Given the description of an element on the screen output the (x, y) to click on. 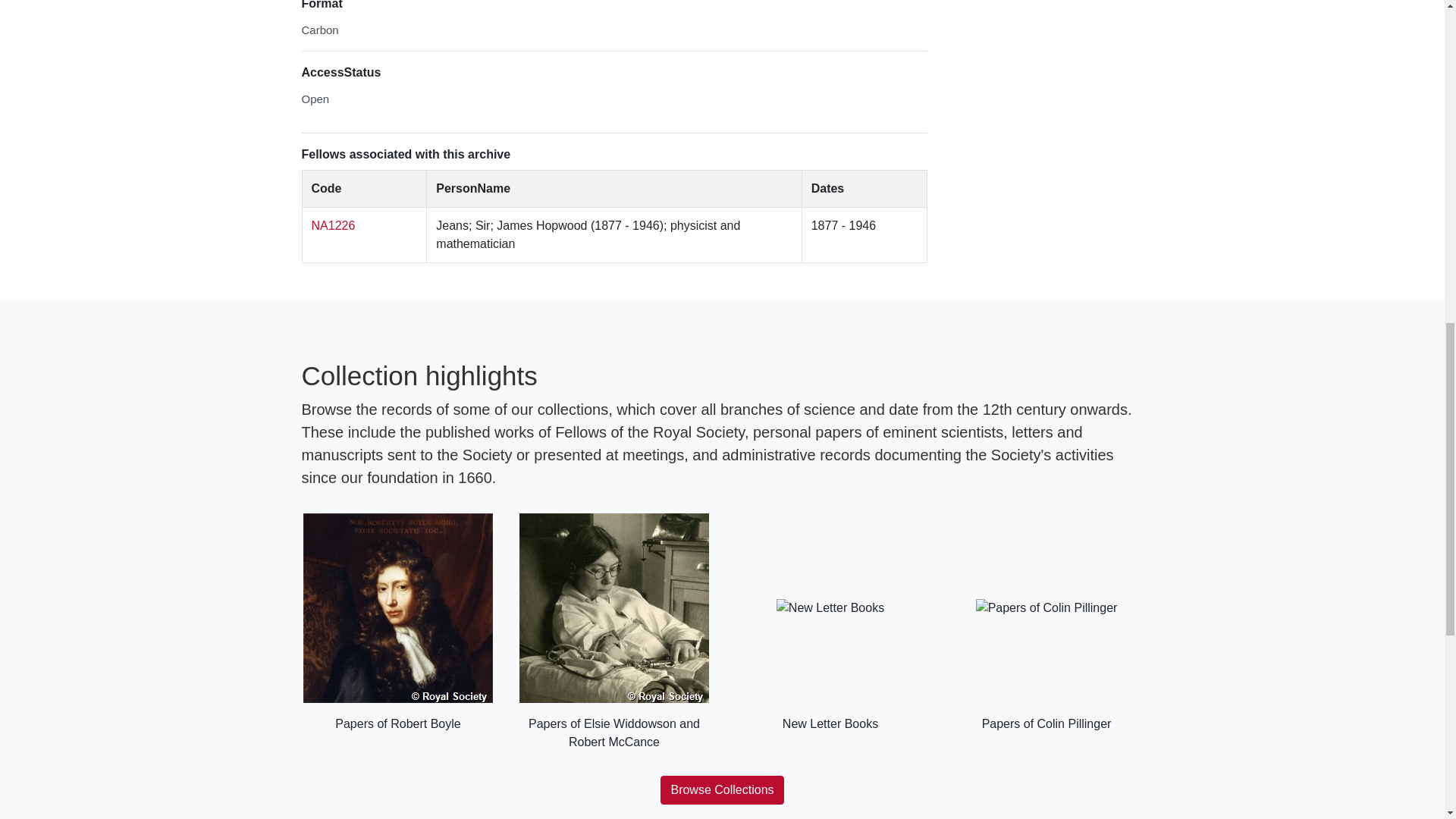
Papers of Elsie Widdowson and Robert McCance (613, 632)
New Letter Books (830, 623)
Papers of Robert Boyle (398, 623)
Papers of Colin Pillinger (1045, 623)
Browse Collections (722, 789)
NA1226 (333, 225)
Show related Persons records. (333, 225)
